Given the description of an element on the screen output the (x, y) to click on. 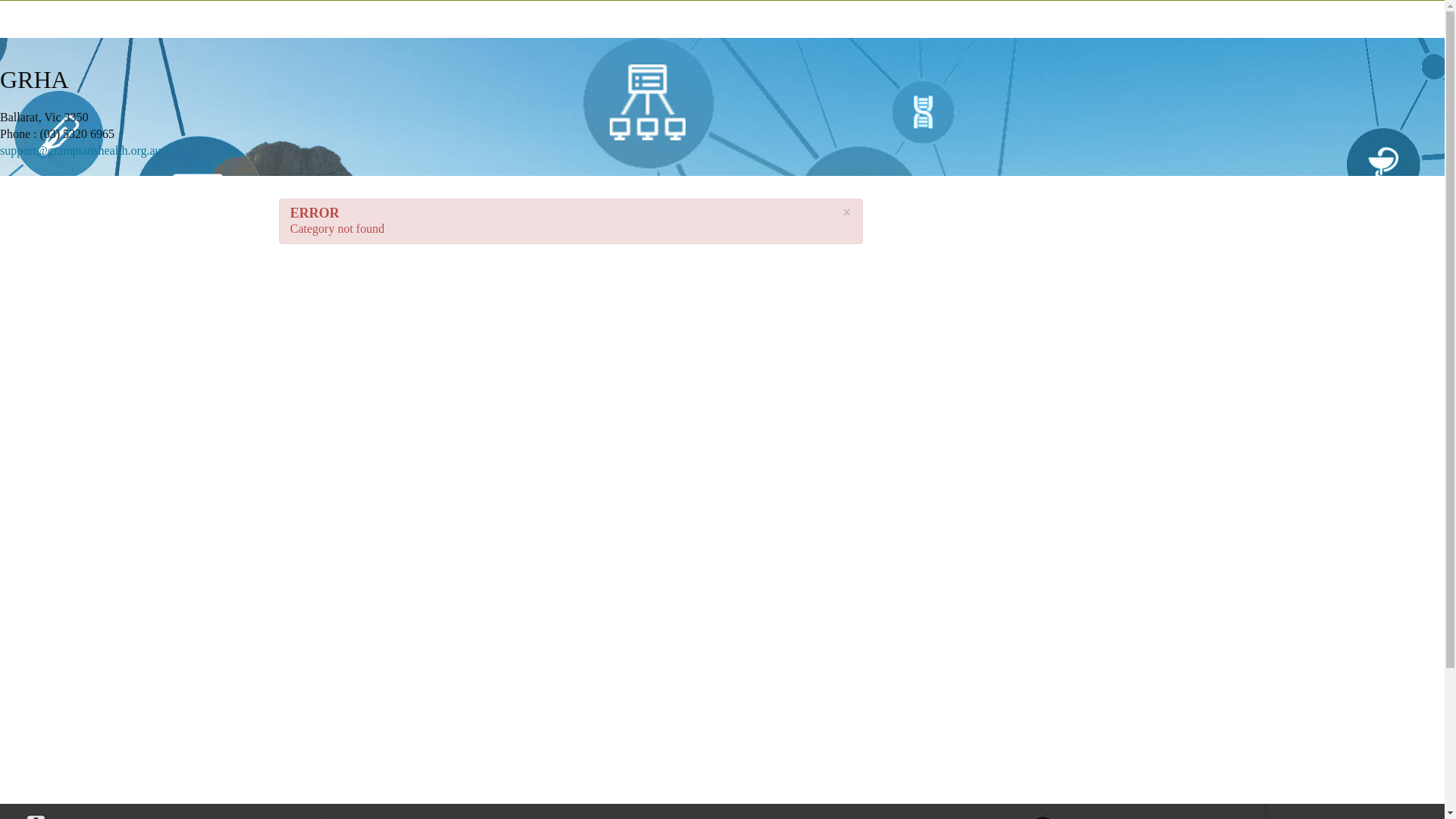
support@grampianshealth.org.au Element type: text (80, 150)
